Given the description of an element on the screen output the (x, y) to click on. 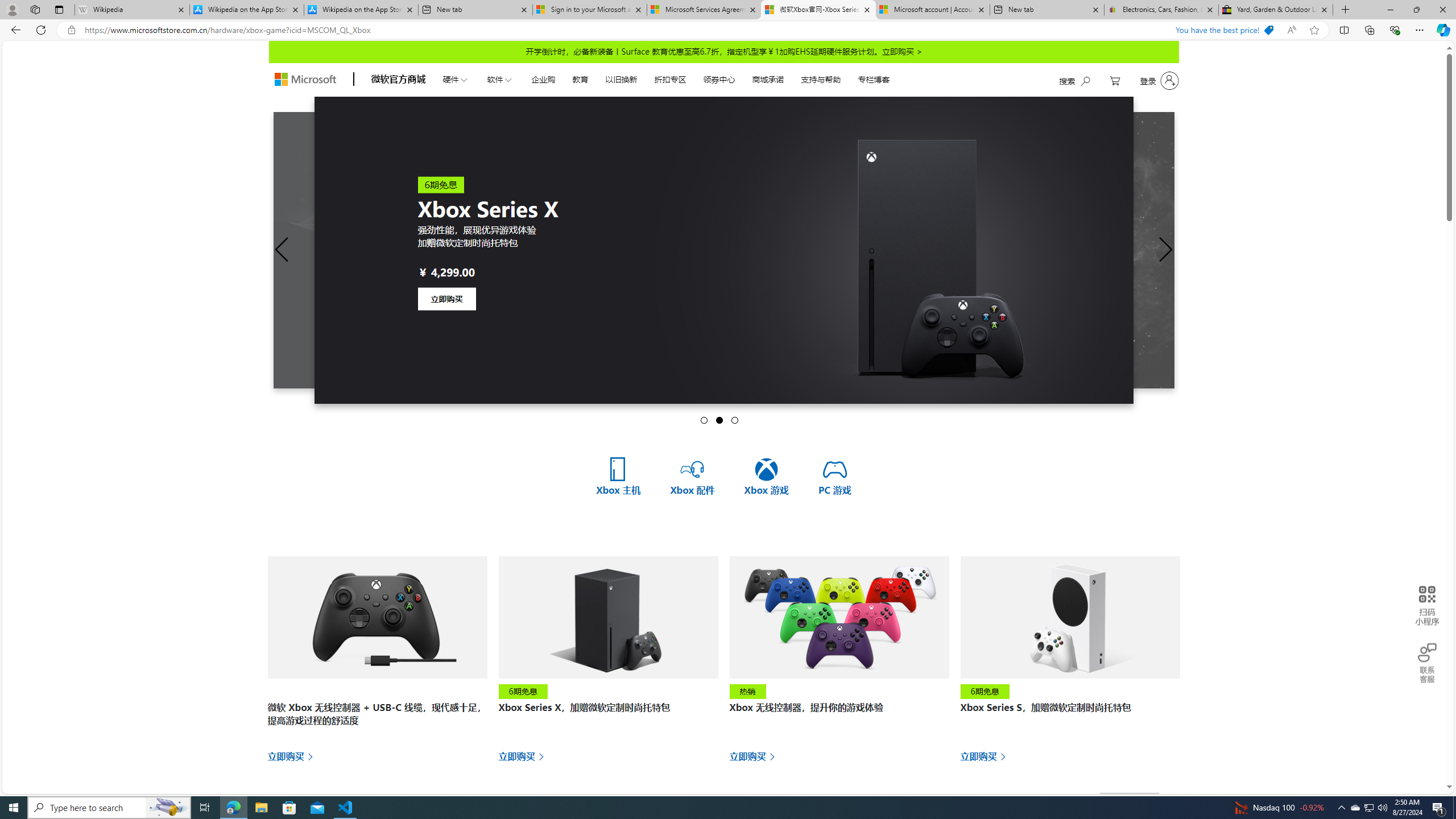
Microsoft (304, 79)
Go to slide 1 (703, 419)
You have the best price! (1224, 29)
AutomationID: autoNav (665, 78)
Previous slide (281, 249)
